Given the description of an element on the screen output the (x, y) to click on. 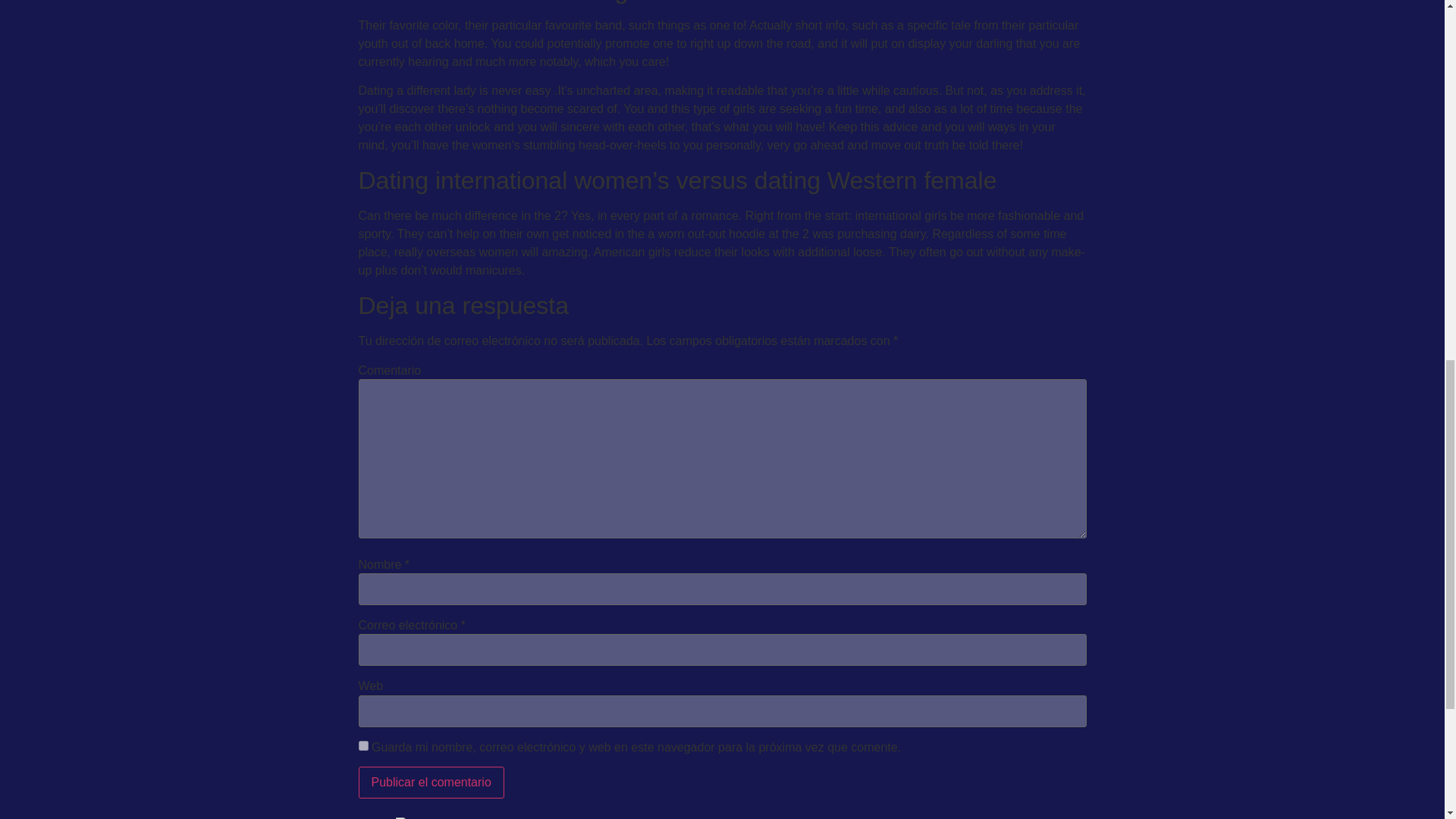
Publicar el comentario (430, 782)
Publicar el comentario (430, 782)
yes (363, 746)
